Given the description of an element on the screen output the (x, y) to click on. 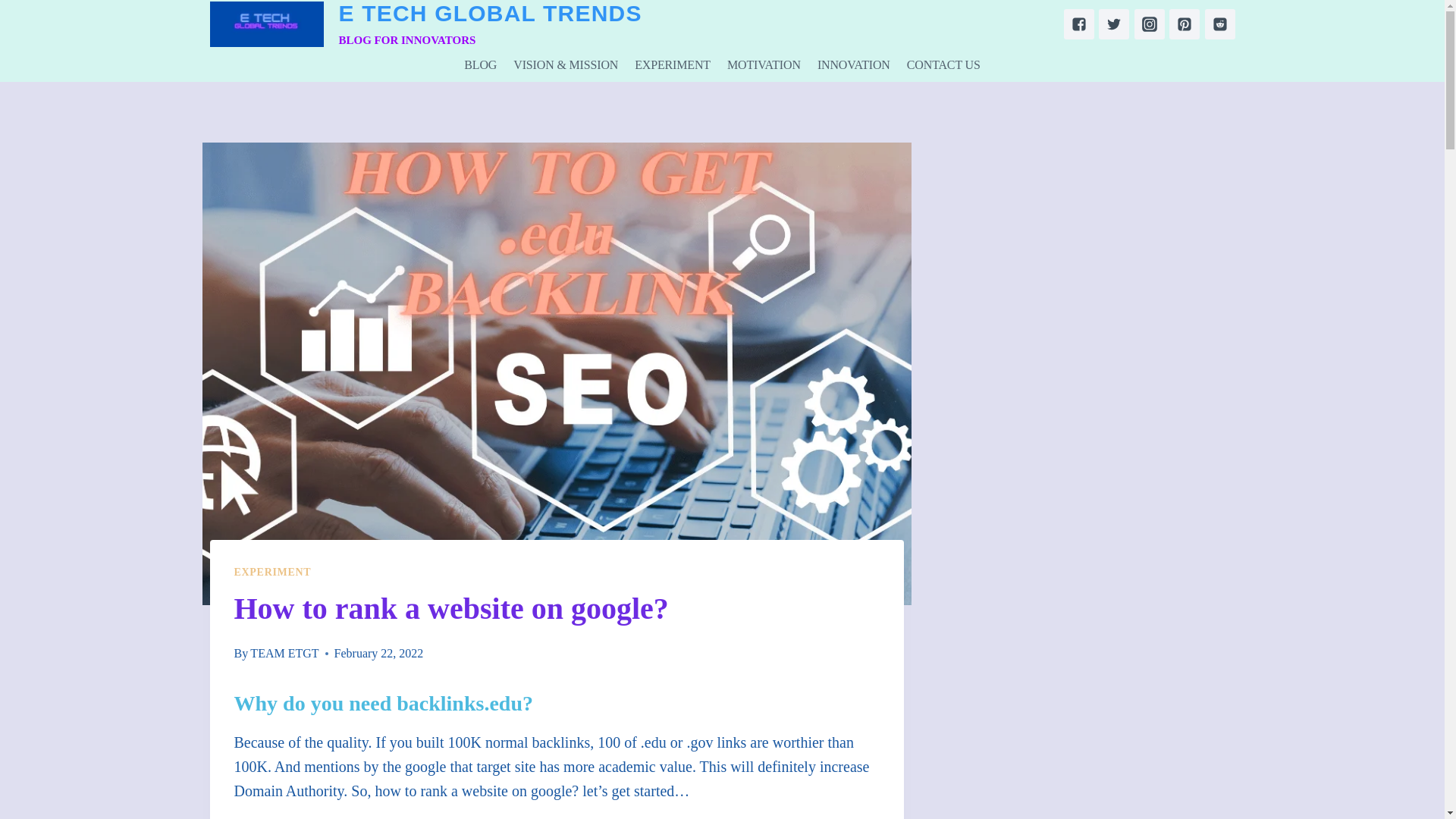
EXPERIMENT (672, 64)
MOTIVATION (764, 64)
EXPERIMENT (425, 24)
CONTACT US (271, 572)
BLOG (943, 64)
INNOVATION (480, 64)
TEAM ETGT (853, 64)
